Given the description of an element on the screen output the (x, y) to click on. 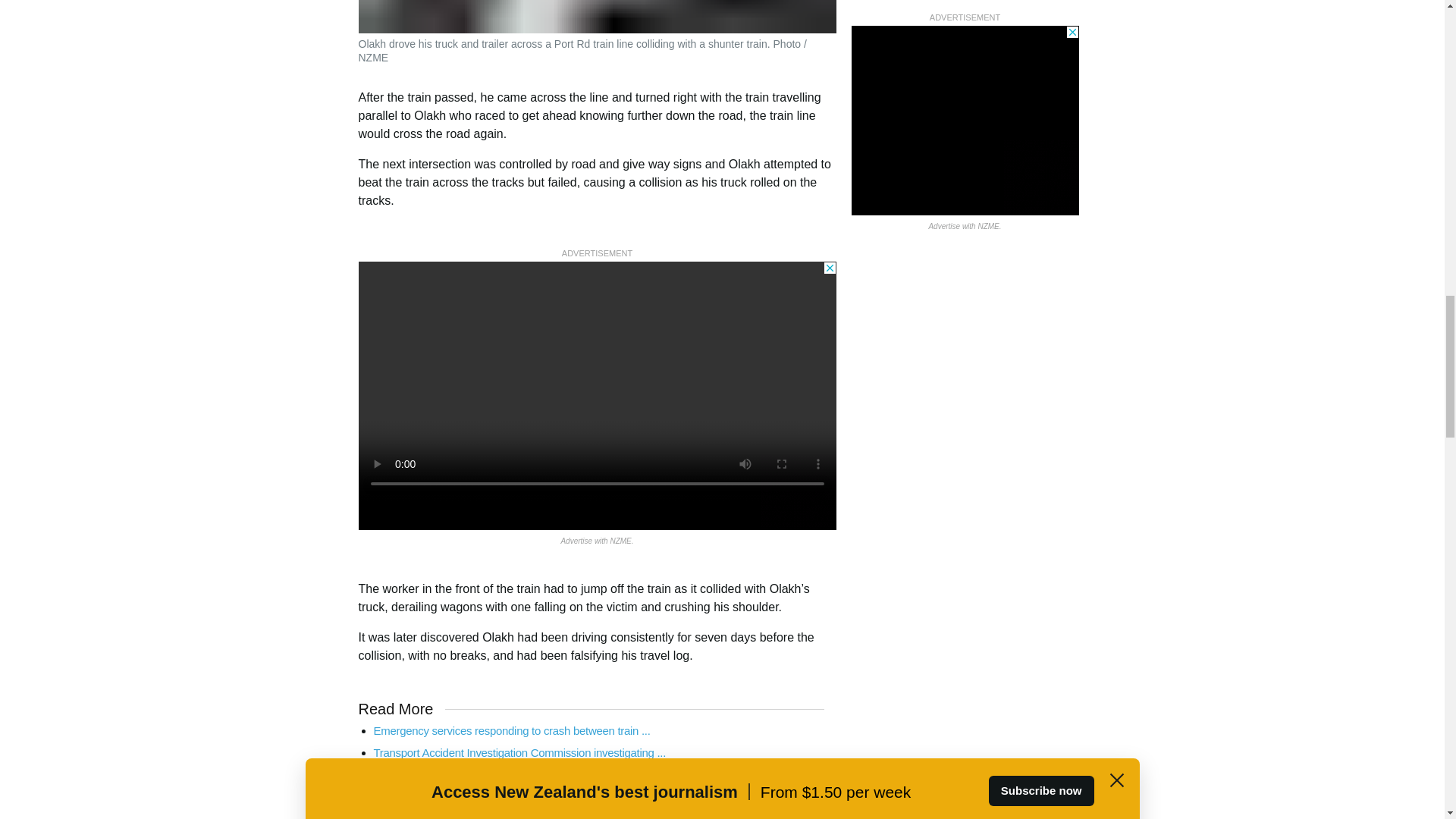
3rd party ad content (964, 93)
3rd party ad content (596, 395)
